Given the description of an element on the screen output the (x, y) to click on. 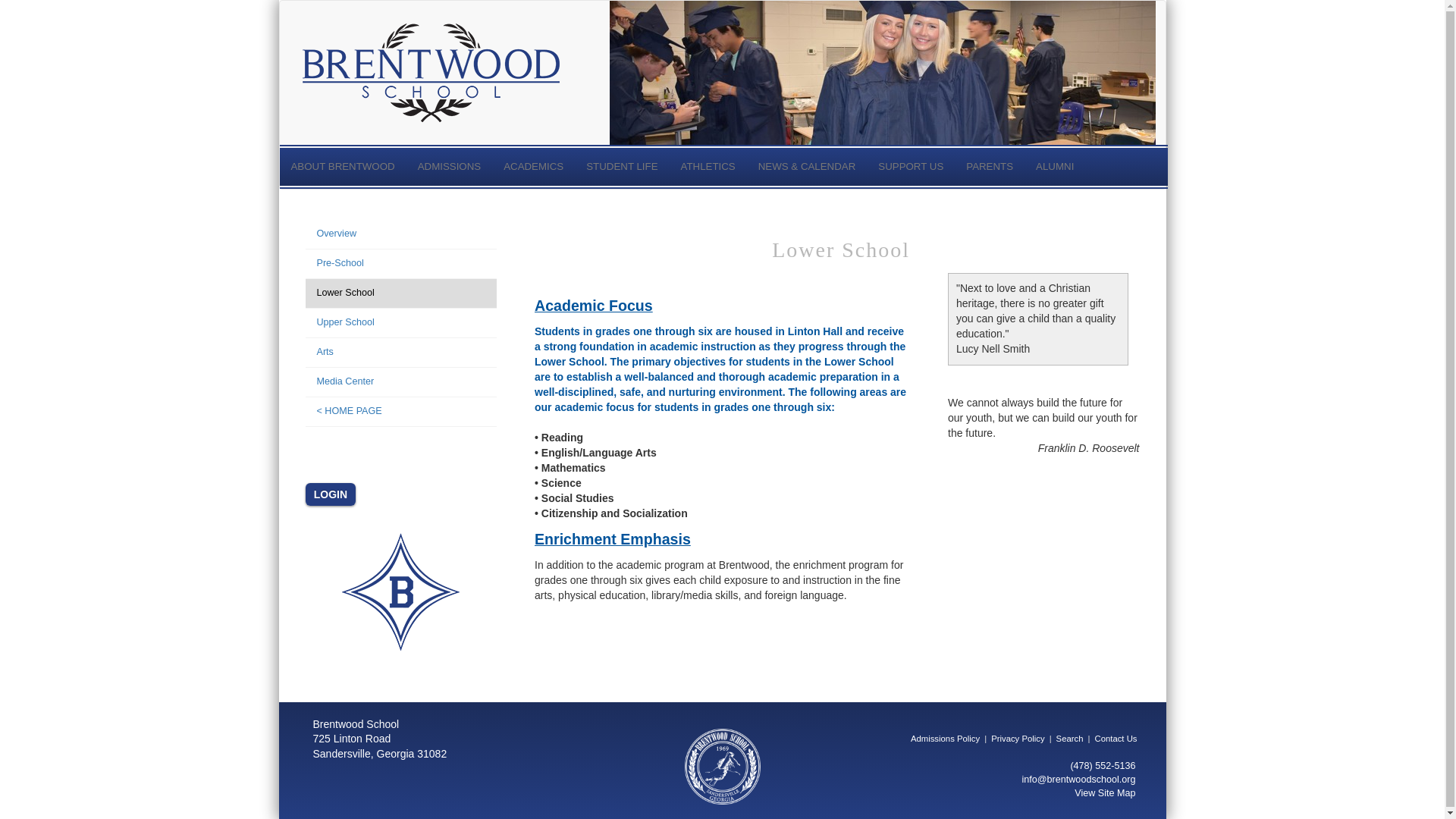
ACADEMICS (533, 166)
ABOUT BRENTWOOD (342, 166)
STUDENT LIFE (621, 166)
ADMISSIONS (449, 166)
